Given the description of an element on the screen output the (x, y) to click on. 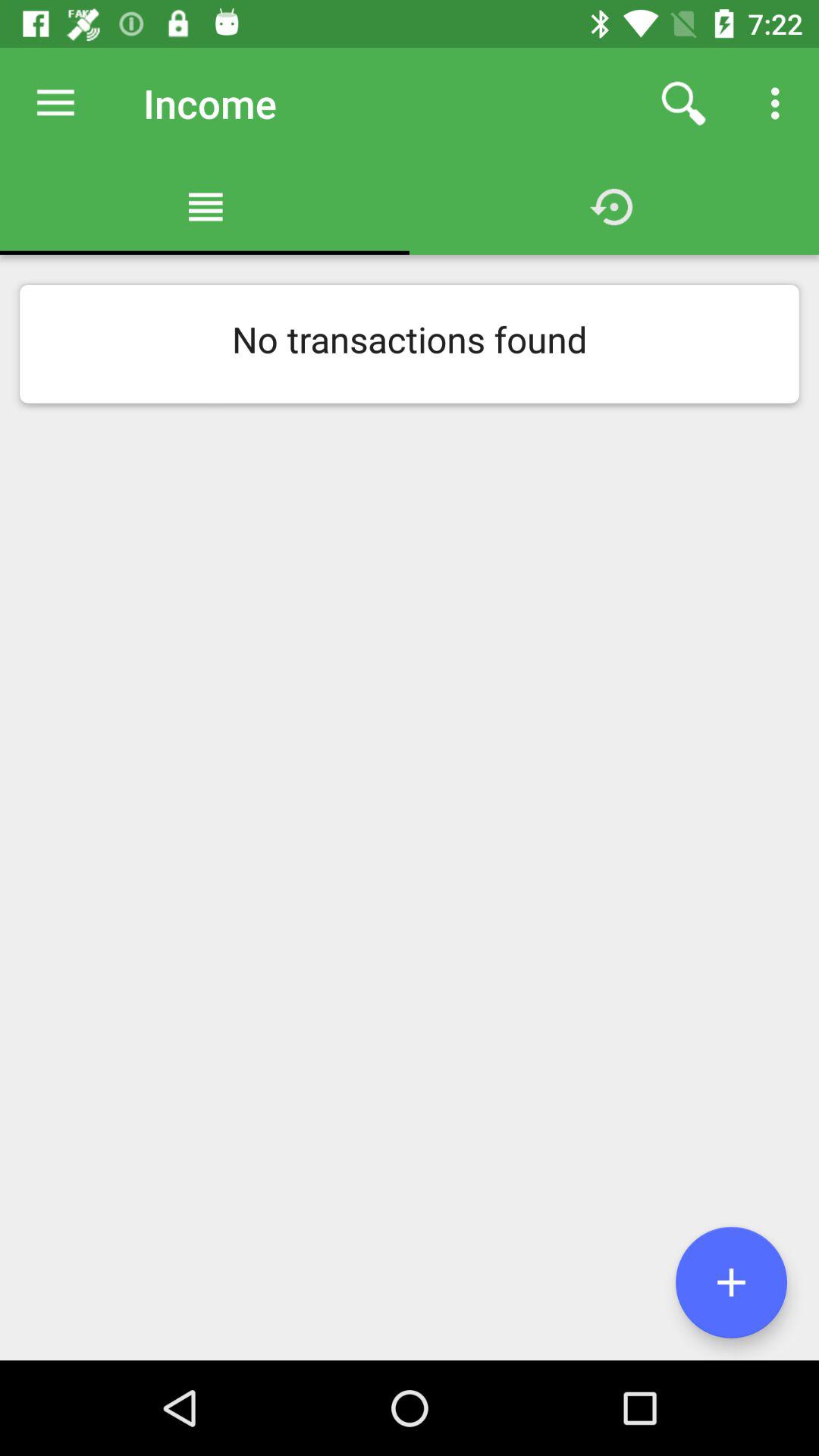
add a transaction option (731, 1282)
